Given the description of an element on the screen output the (x, y) to click on. 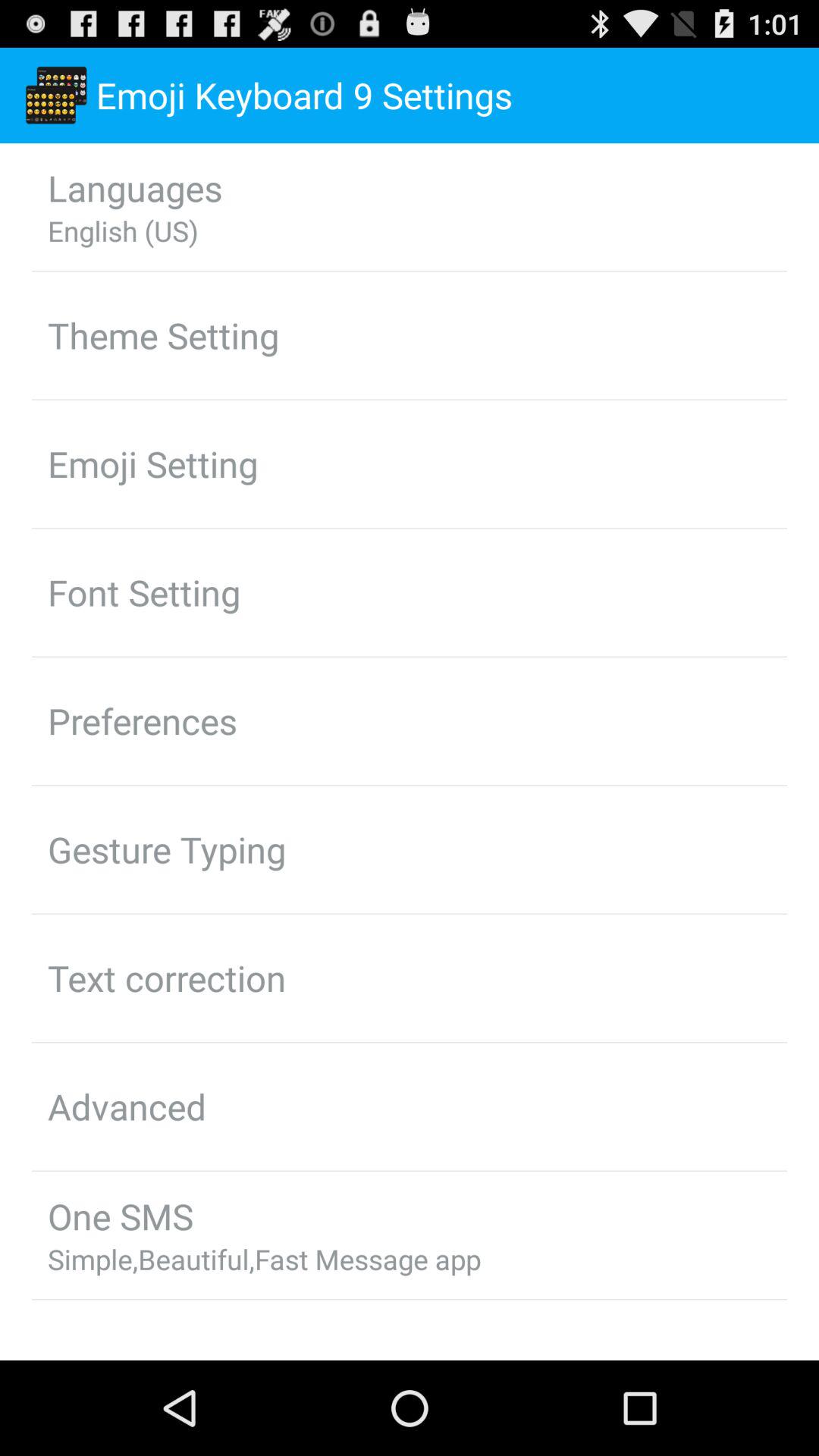
click the item above the theme setting item (122, 230)
